Given the description of an element on the screen output the (x, y) to click on. 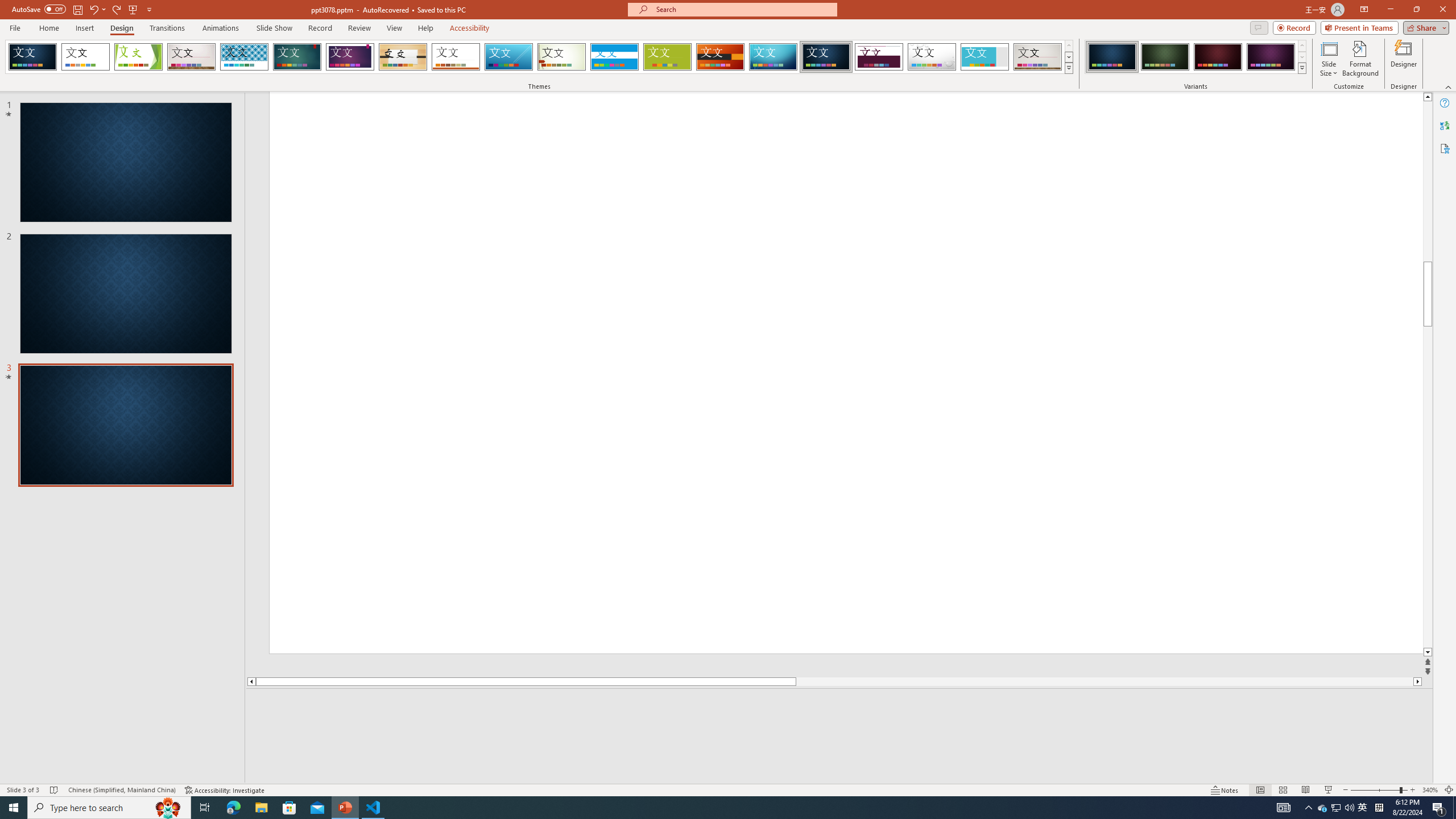
Basis (667, 56)
